Given the description of an element on the screen output the (x, y) to click on. 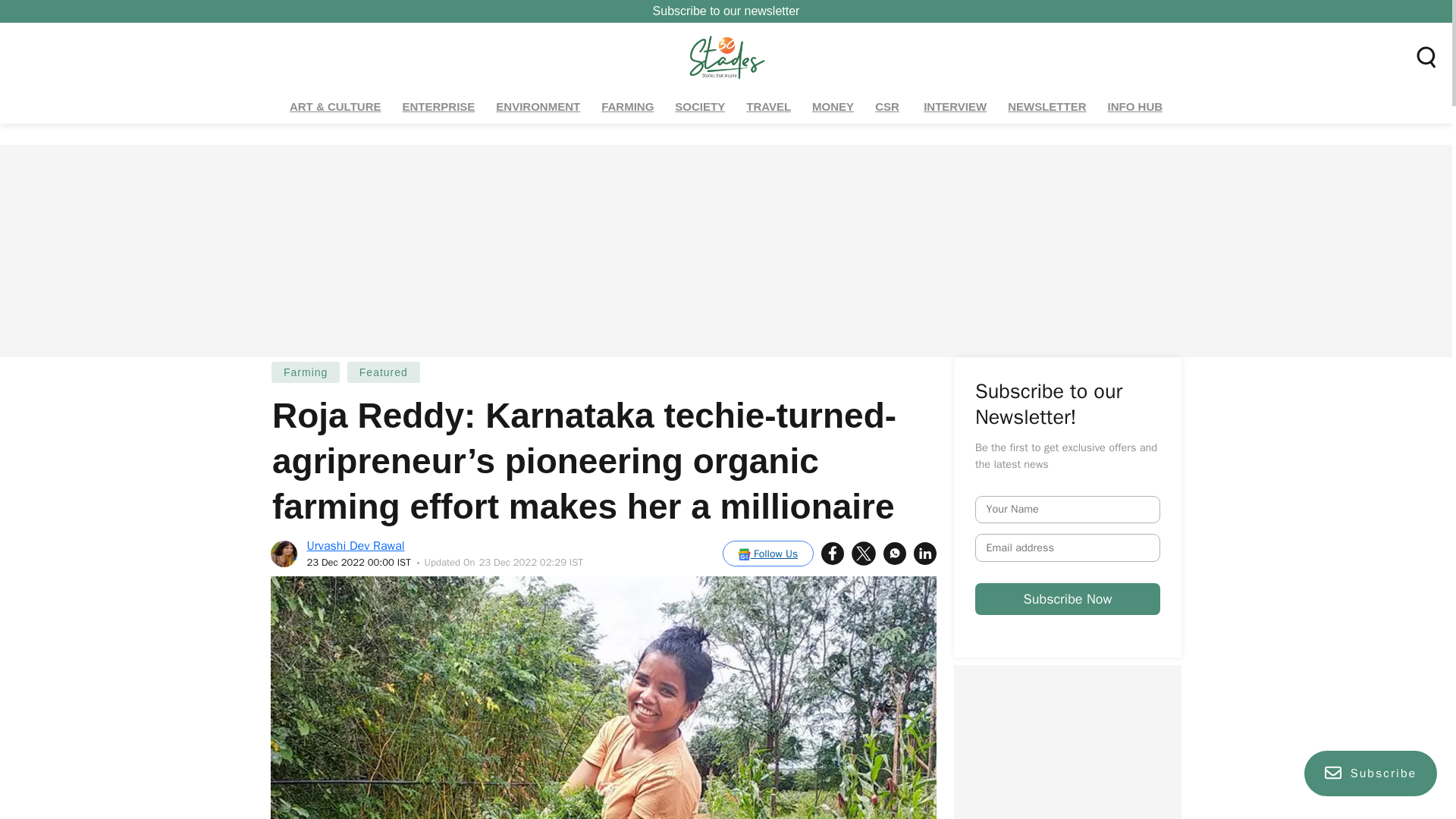
Subscribe Now (1185, 665)
MONEY (832, 106)
CSR (888, 106)
TRAVEL (768, 106)
Follow Us (767, 553)
SOCIETY (699, 106)
FARMING (627, 106)
Urvashi Dev Rawal (355, 545)
ENVIRONMENT (537, 106)
INFO HUB (1135, 106)
INTERVIEW (954, 106)
NEWSLETTER (1046, 106)
Featured (383, 372)
Farming (305, 372)
Advertisement (1066, 742)
